Given the description of an element on the screen output the (x, y) to click on. 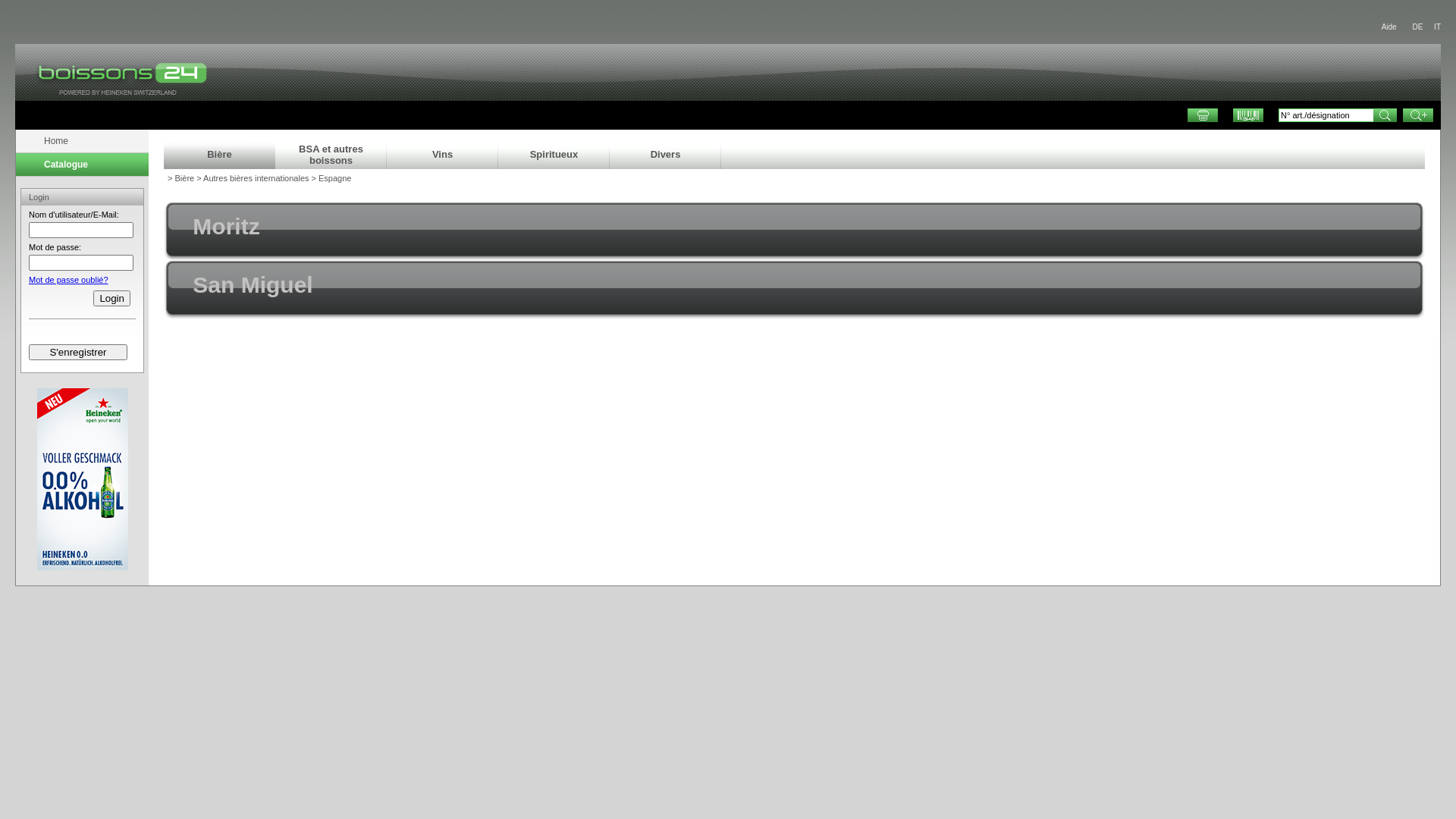
Divers Element type: text (665, 154)
BSA et autres boissons Element type: text (330, 154)
IT Element type: text (1437, 26)
Login Element type: text (111, 298)
S'enregistrer Element type: text (77, 352)
Vins Element type: text (442, 154)
Catalogue Element type: text (82, 164)
DE Element type: text (1417, 26)
Aide Element type: text (1388, 26)
Spiritueux Element type: text (554, 154)
Home Element type: text (82, 140)
